Given the description of an element on the screen output the (x, y) to click on. 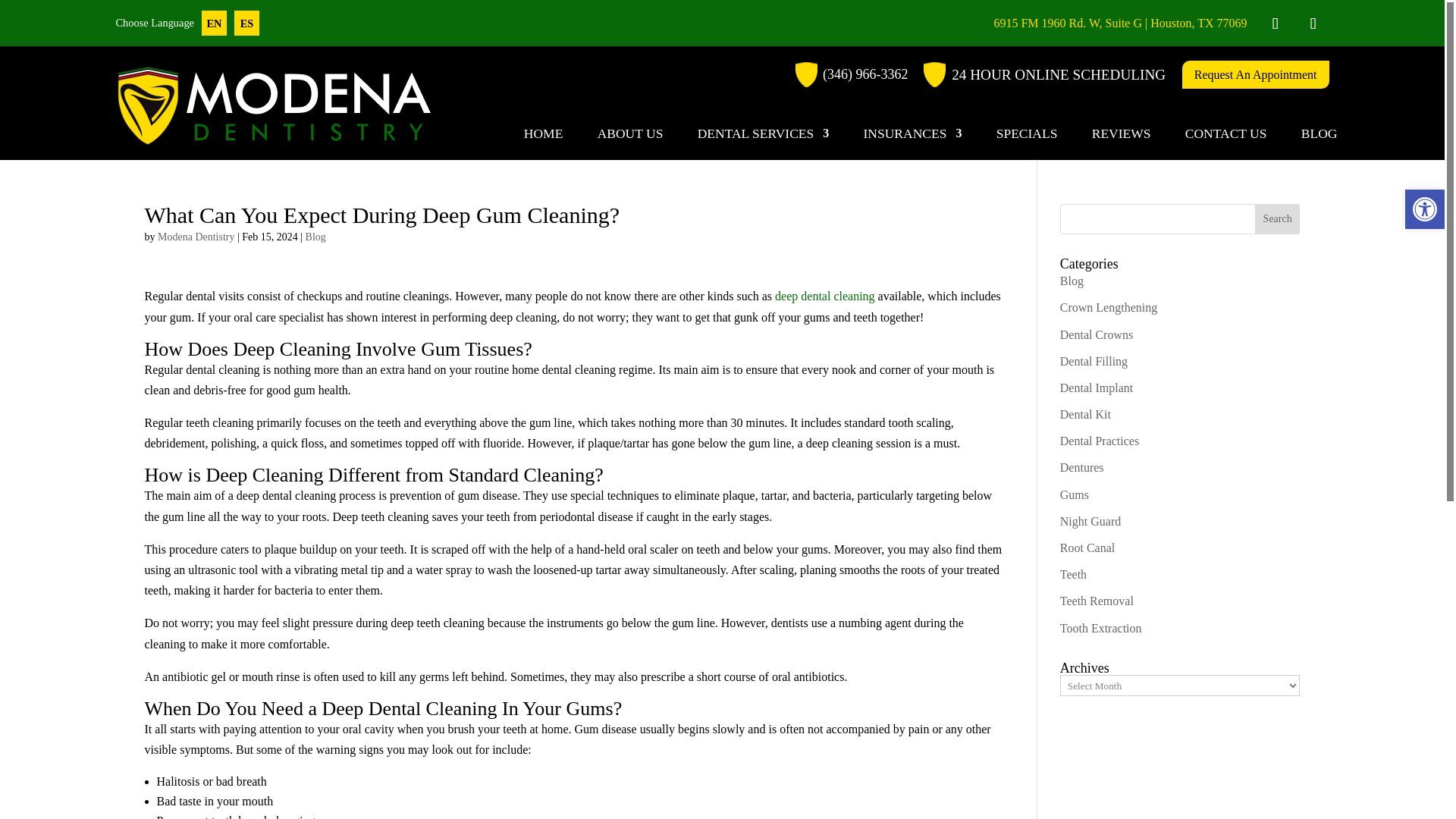
REVIEWS (1121, 135)
CONTACT US (1225, 135)
Accessibility Tools (1424, 209)
Blog (1071, 280)
deep dental cleaning (824, 295)
INSURANCES (912, 135)
Crown Lengthening (1108, 307)
Posts by Modena Dentistry (195, 236)
Dental Crowns (1095, 333)
Request An Appointment (1255, 74)
